Given the description of an element on the screen output the (x, y) to click on. 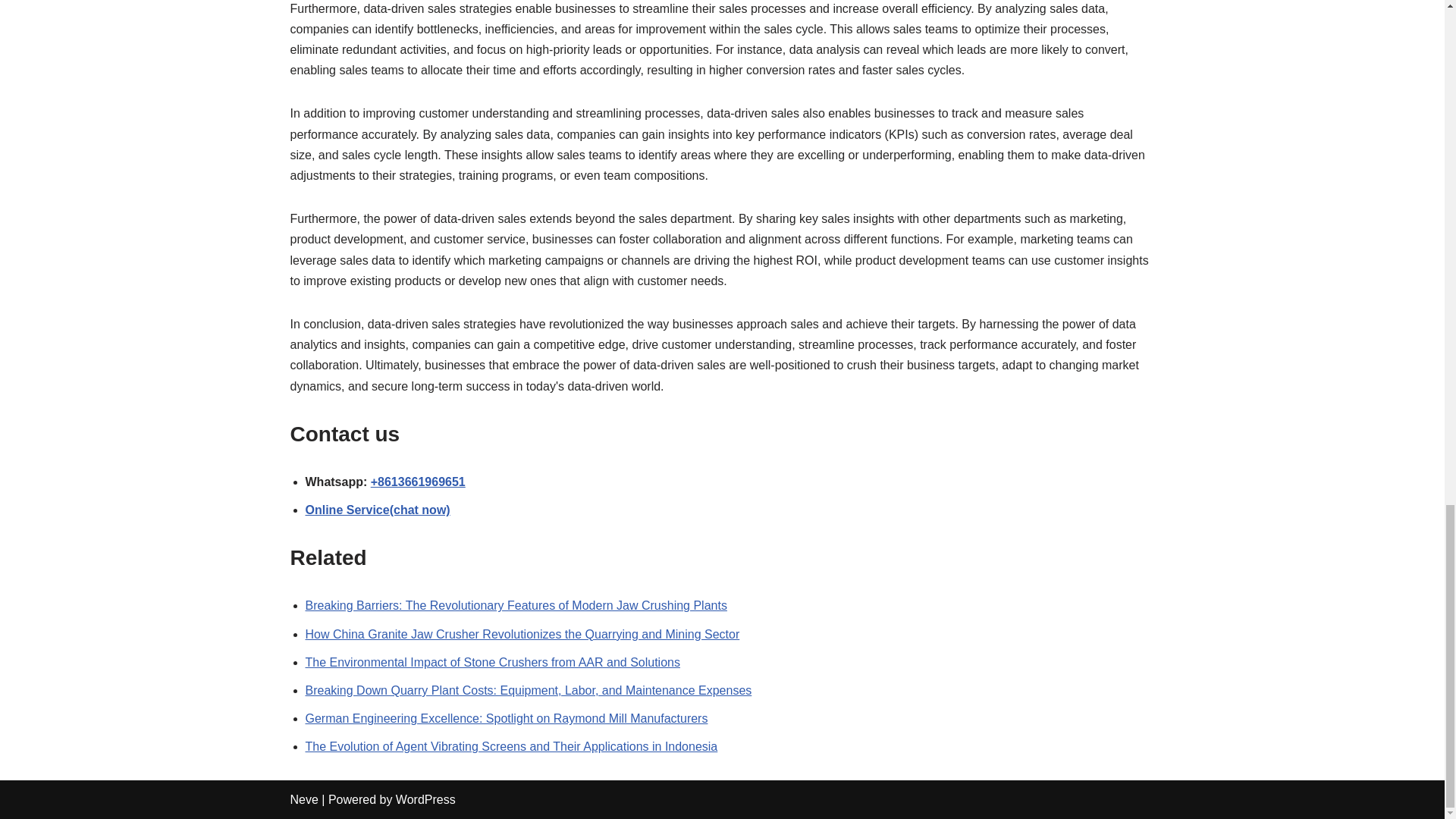
Neve (303, 799)
WordPress (425, 799)
